Given the description of an element on the screen output the (x, y) to click on. 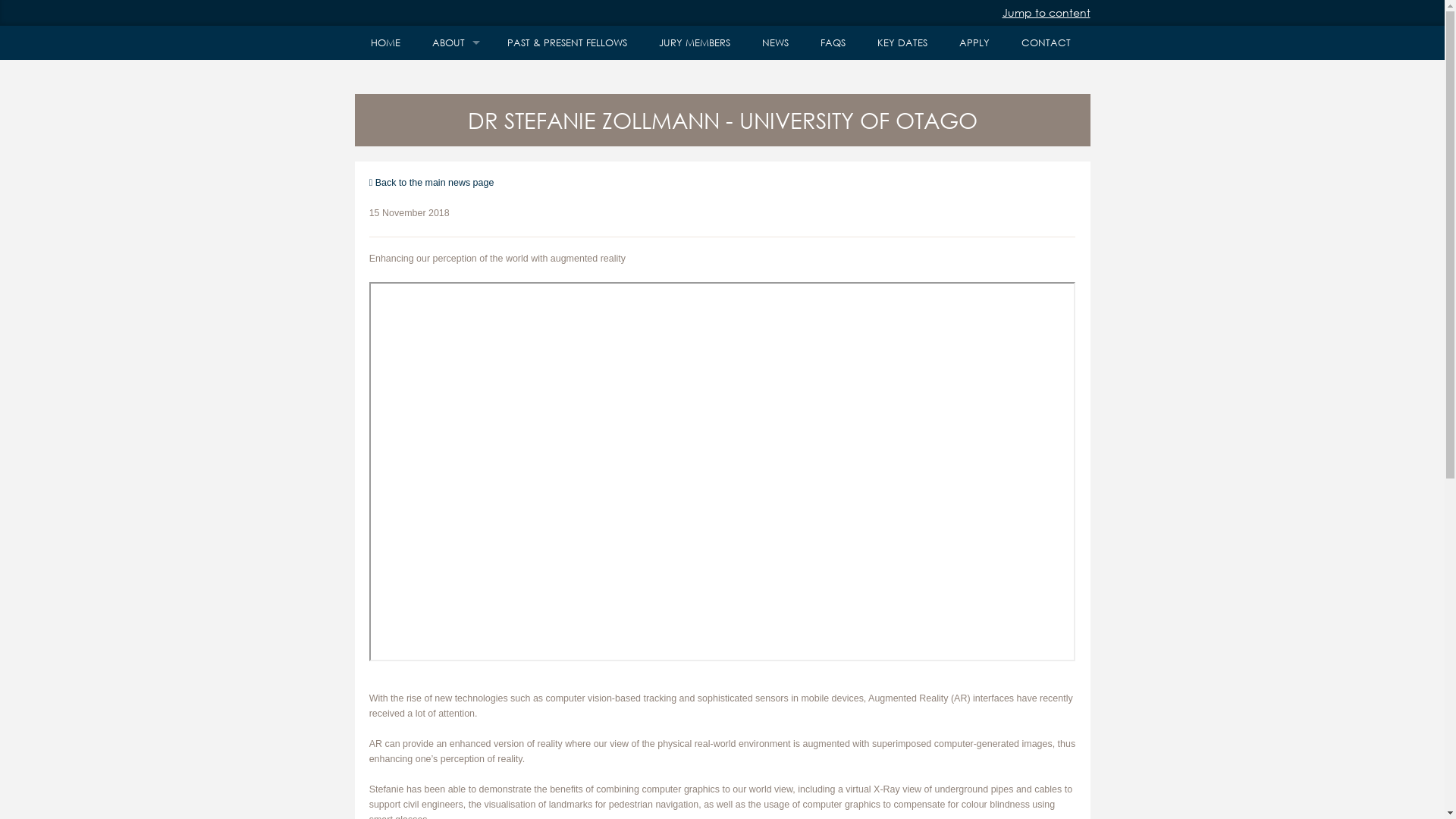
CONTACT Element type: text (1045, 42)
ABOUT Element type: text (452, 42)
PAST & PRESENT FELLOWS Element type: text (567, 42)
Jump to content Element type: text (1046, 12)
APPLY Element type: text (974, 42)
NEWS Element type: text (775, 42)
FAQS Element type: text (831, 42)
KEY DATES Element type: text (902, 42)
JURY MEMBERS Element type: text (694, 42)
HOME Element type: text (385, 42)
